Given the description of an element on the screen output the (x, y) to click on. 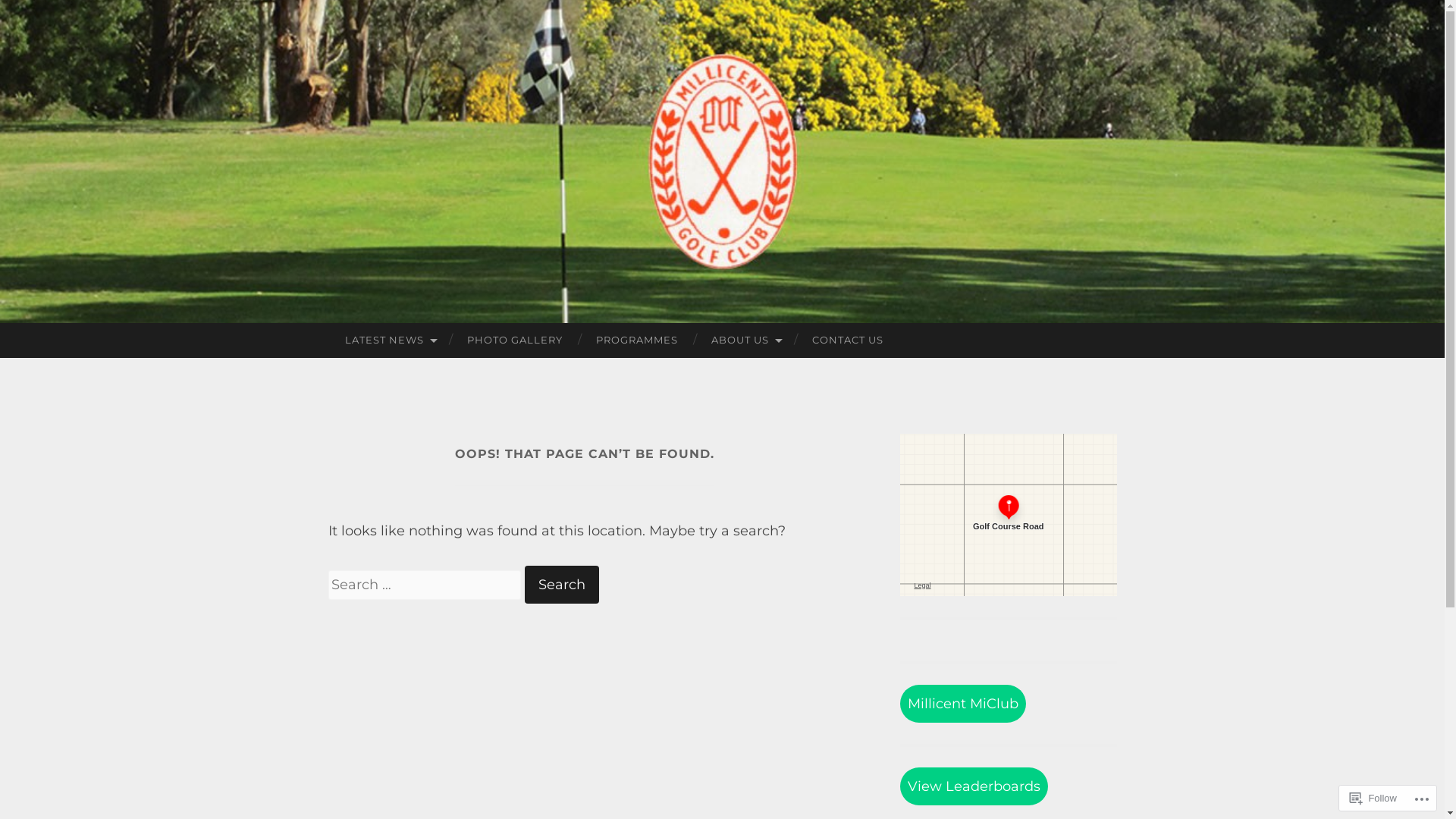
View Leaderboards Element type: text (973, 786)
Millicent MiClub Element type: text (962, 703)
MILLICENT GOLF CLUB Element type: text (768, 321)
ABOUT US Element type: text (744, 340)
LATEST NEWS Element type: text (388, 340)
PROGRAMMES Element type: text (636, 340)
Search Element type: text (561, 584)
PHOTO GALLERY Element type: text (514, 340)
CONTACT US Element type: text (847, 340)
Follow Element type: text (1372, 797)
